Given the description of an element on the screen output the (x, y) to click on. 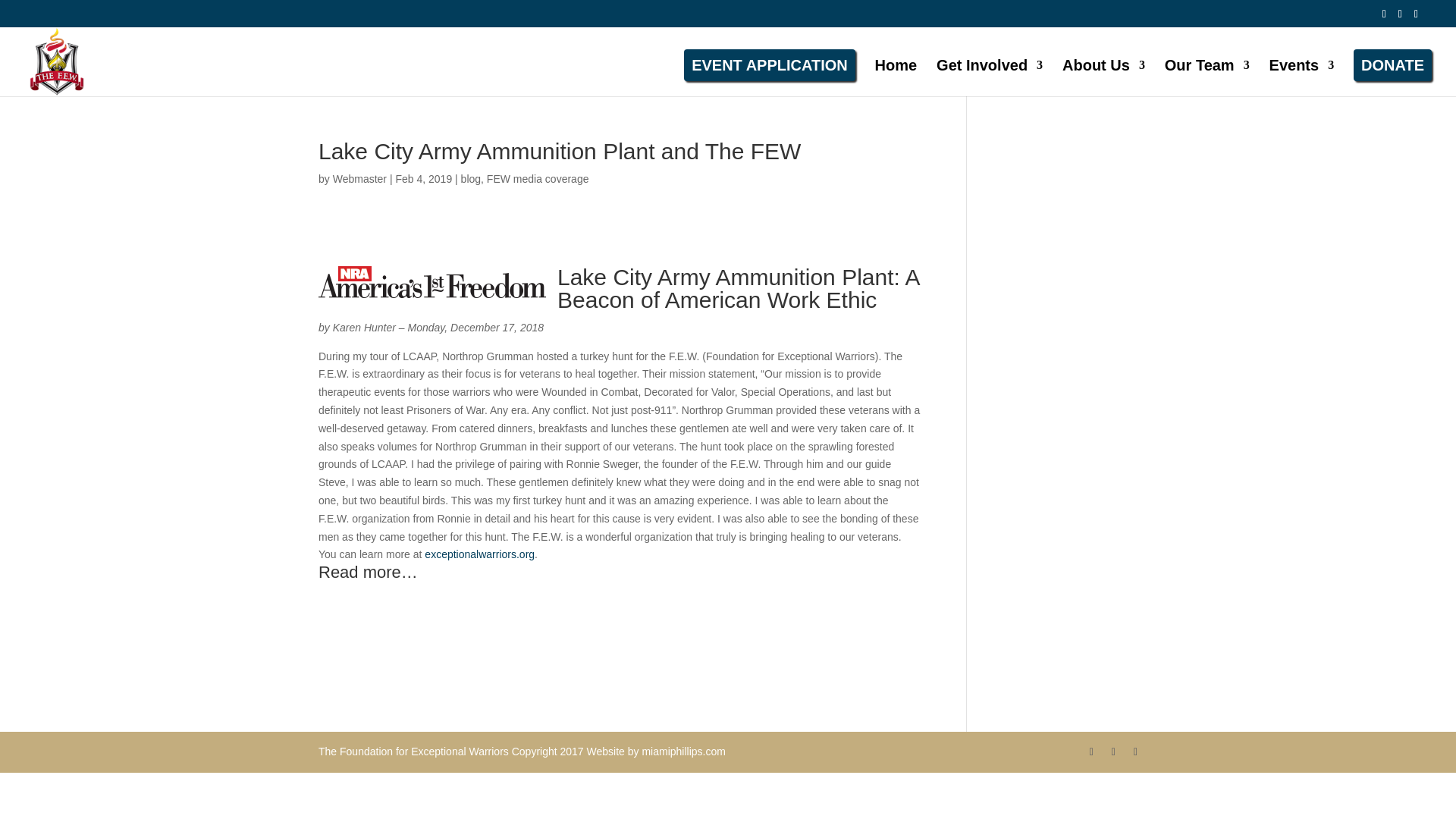
Events (1302, 74)
About Us (1103, 74)
Get Involved (989, 74)
DONATE (1392, 65)
Home (896, 74)
Our Team (1206, 74)
Posts by Webmaster (360, 178)
EVENT APPLICATION (770, 65)
